Given the description of an element on the screen output the (x, y) to click on. 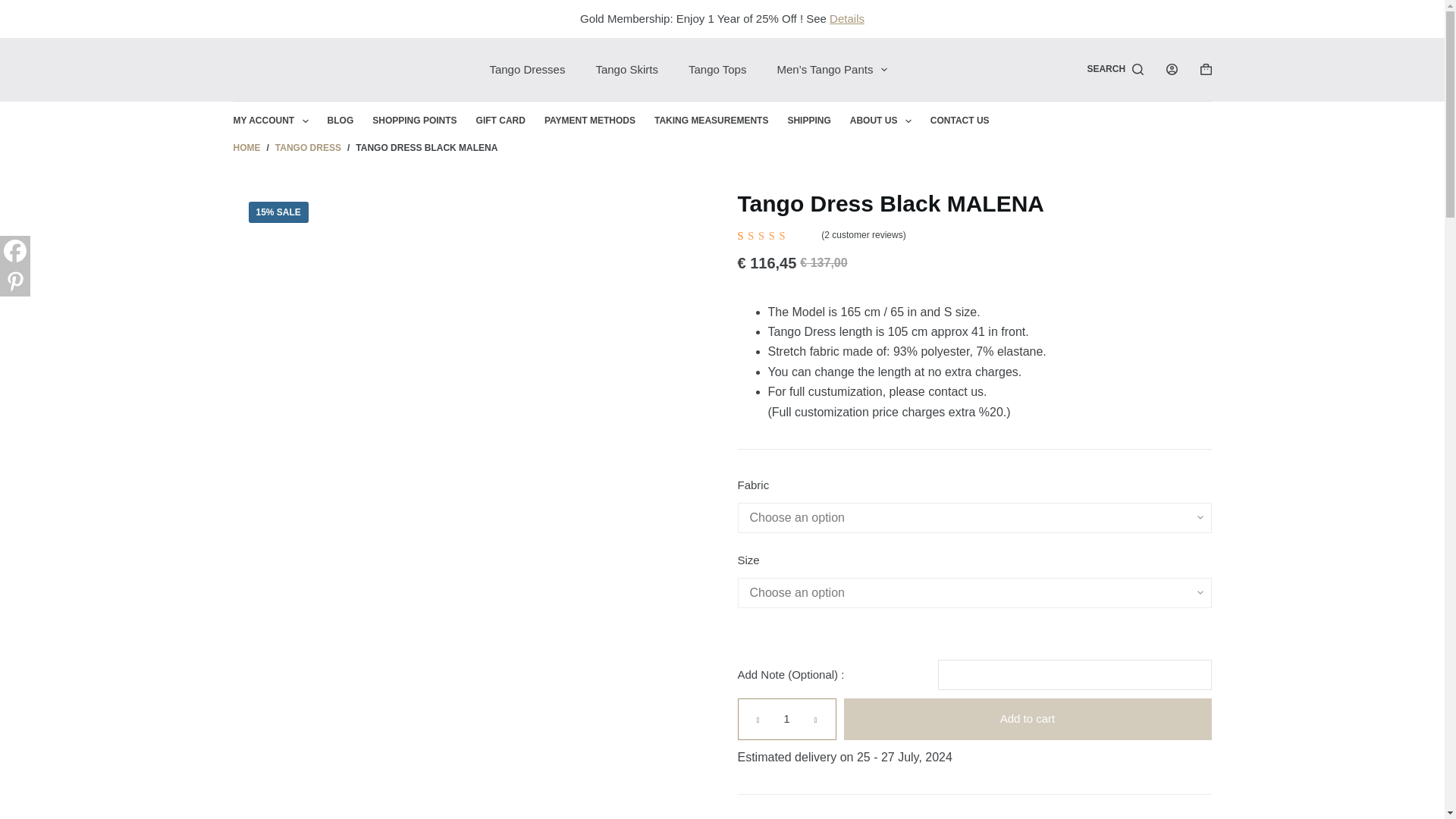
Skip to content (15, 7)
1 (785, 719)
Facebook (15, 250)
